Given the description of an element on the screen output the (x, y) to click on. 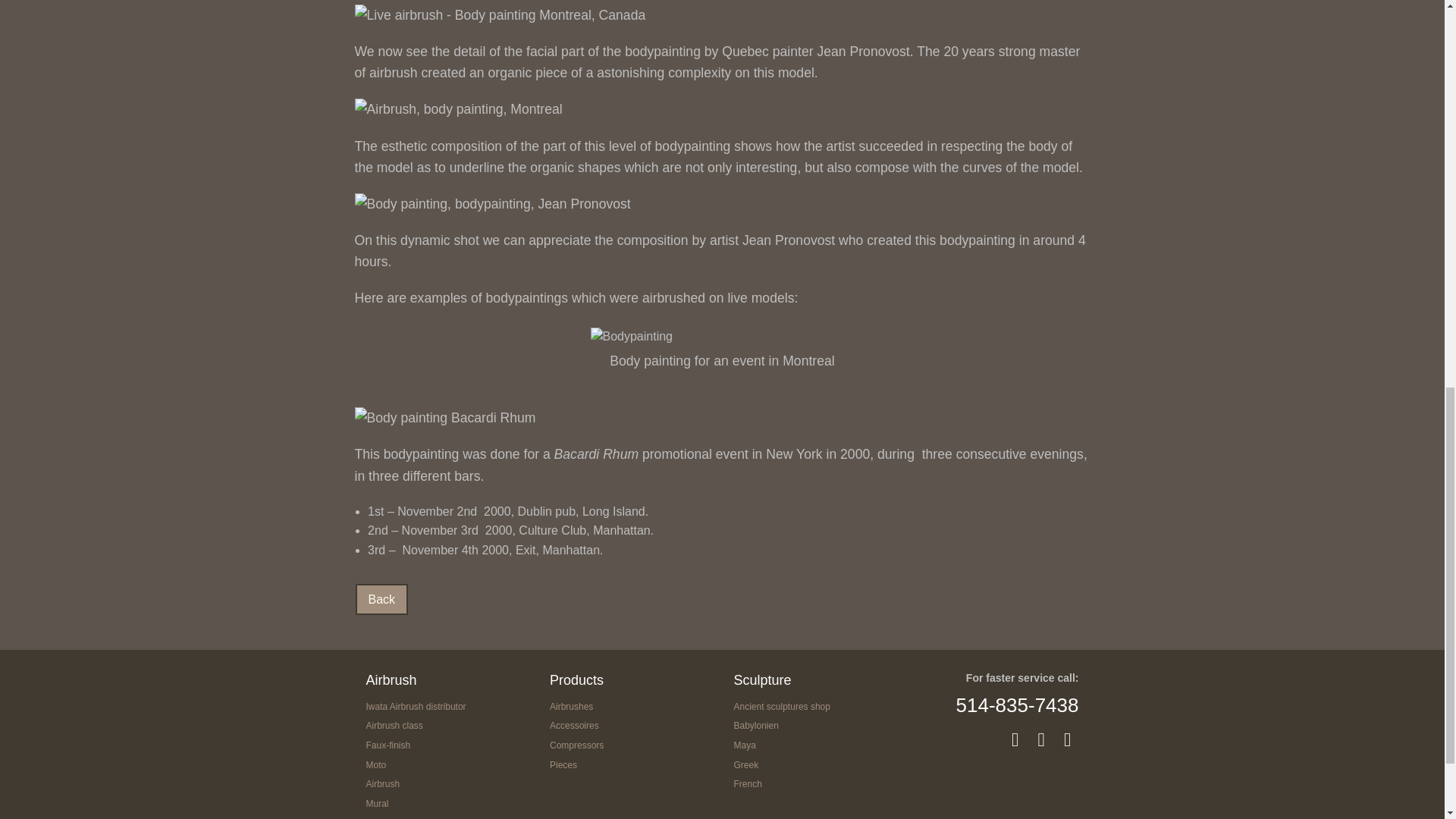
Accessoires (574, 725)
Airbrush class (393, 725)
Airbrush (381, 783)
Iwata Airbrush distributor (415, 706)
Faux-finish (387, 745)
Moto (375, 765)
Airbrushes (571, 706)
Mural (376, 803)
